Given the description of an element on the screen output the (x, y) to click on. 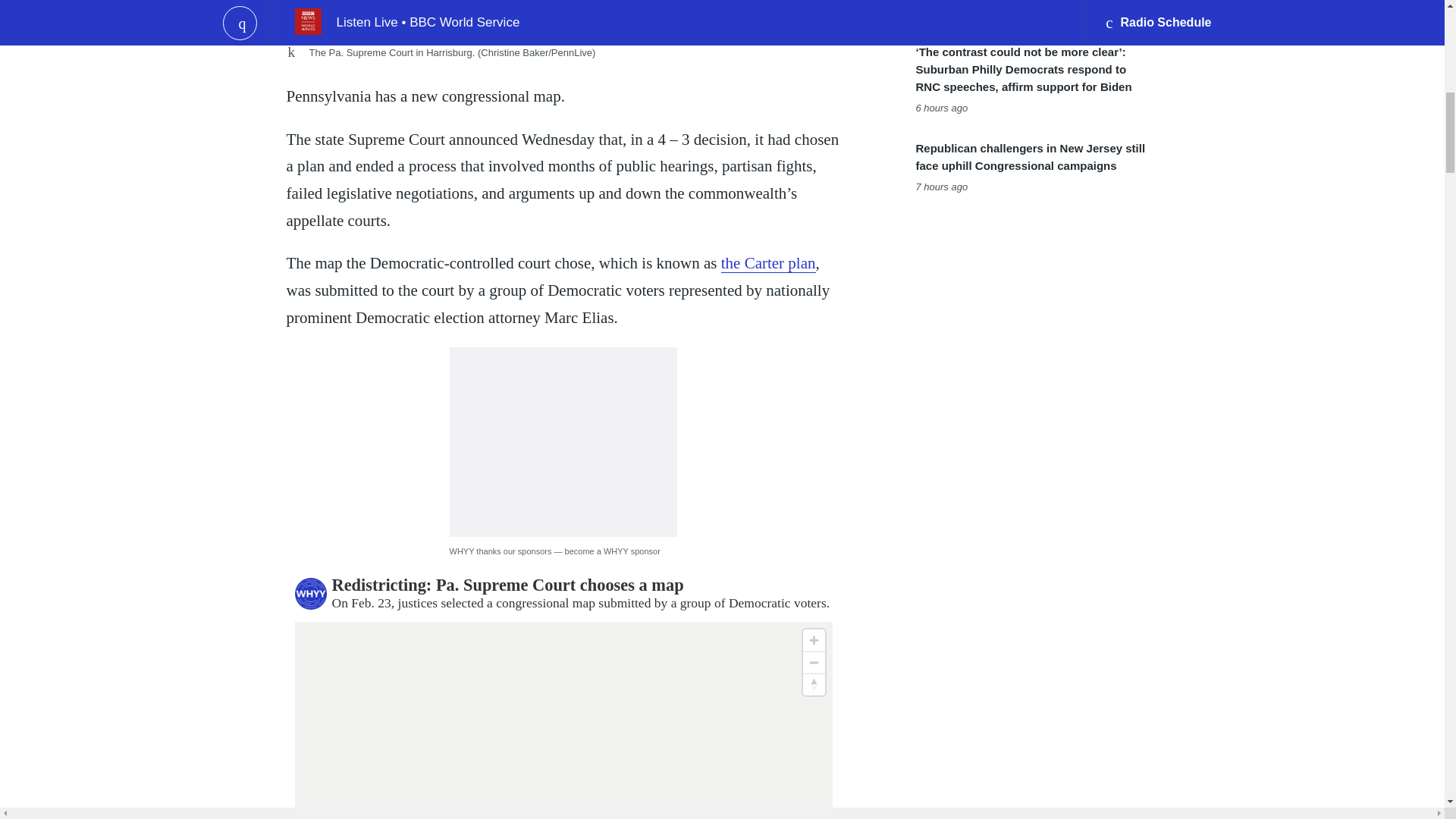
Rooms of power in the Capitol (563, 16)
3rd party ad content (562, 442)
